Given the description of an element on the screen output the (x, y) to click on. 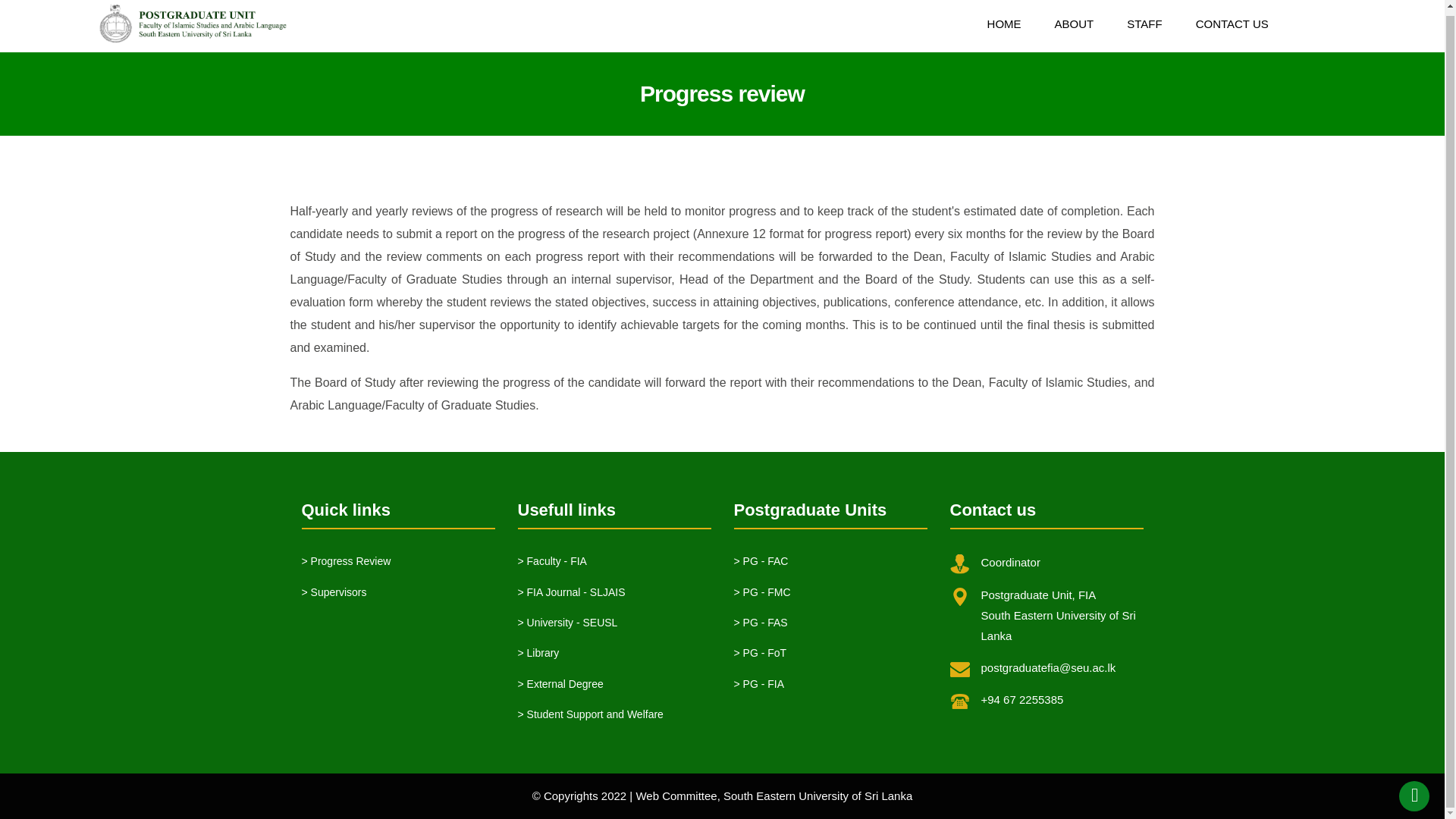
HOME (1004, 23)
STAFF (1144, 23)
ABOUT (1074, 23)
CONTACT US (1232, 23)
